Given the description of an element on the screen output the (x, y) to click on. 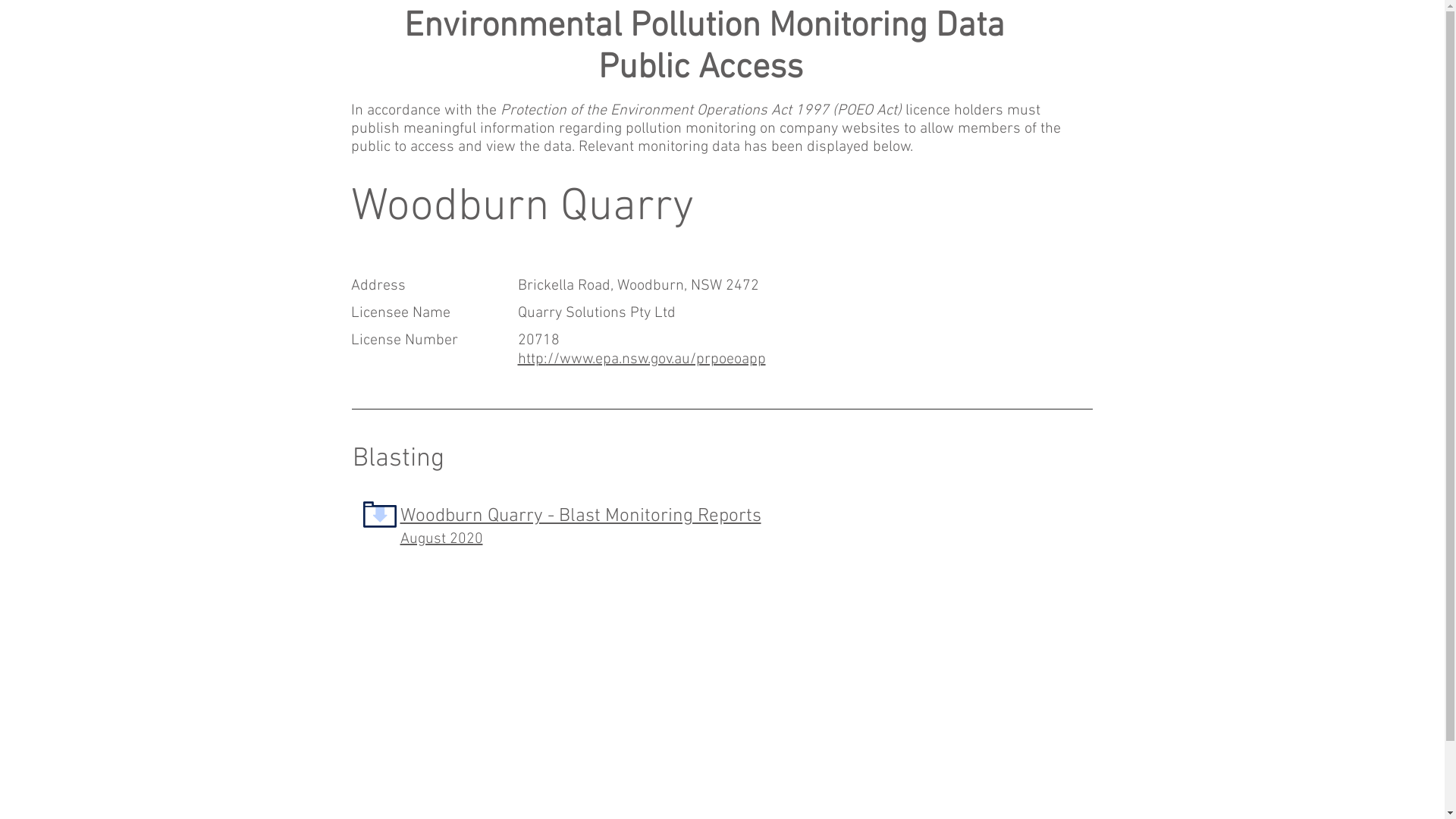
August 2020 Element type: text (441, 539)
Public Access  Element type: text (703, 68)
Environmental Pollution Monitoring Data Element type: text (704, 26)
Woodburn Quarry - Blast Monitoring Reports Element type: text (580, 516)
http://www.epa.nsw.gov.au/prpoeoapp Element type: text (641, 359)
